Given the description of an element on the screen output the (x, y) to click on. 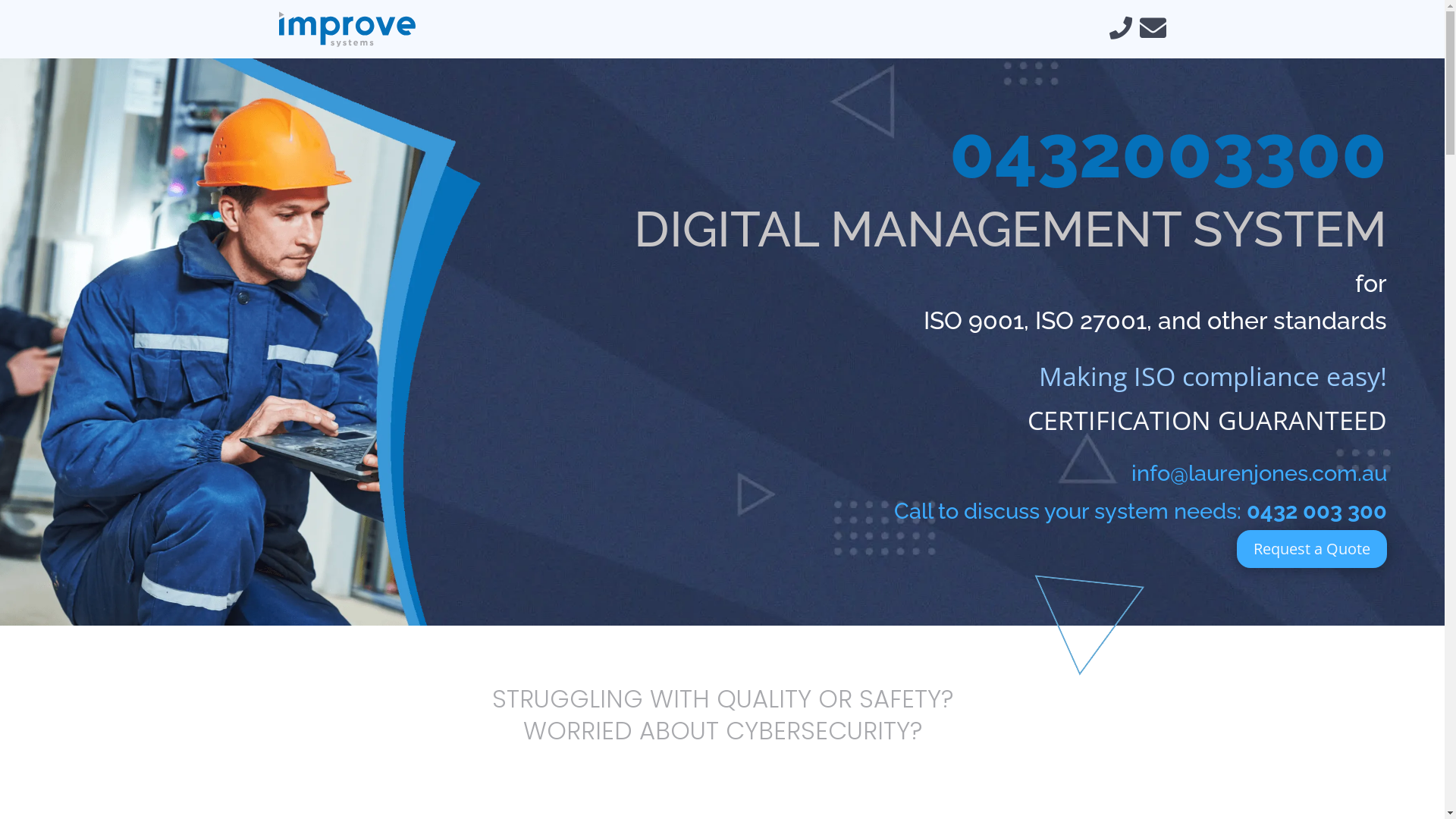
Improve Systems Element type: hover (347, 29)
0432003300 Element type: text (1167, 151)
triangle Element type: hover (1072, 629)
Request a Quote Element type: text (1311, 548)
0432 003 300 Element type: text (1316, 511)
